Given the description of an element on the screen output the (x, y) to click on. 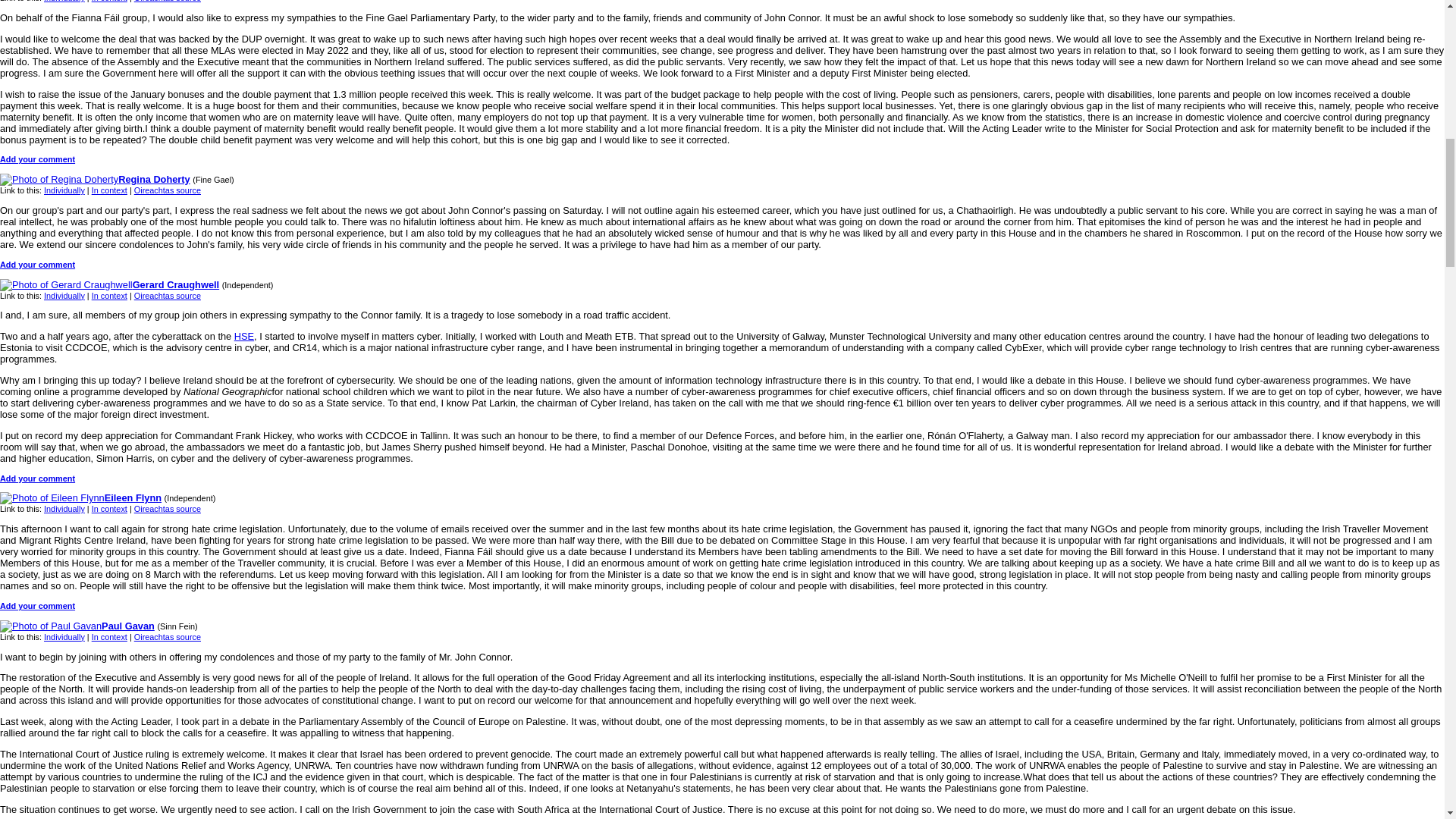
Oireachtas source (166, 189)
Add your comment (37, 158)
Individually (63, 189)
In context (109, 189)
Oireachtas source (166, 1)
In context (109, 1)
Regina Doherty (95, 179)
Add your comment (37, 264)
Individually (63, 1)
